Given the description of an element on the screen output the (x, y) to click on. 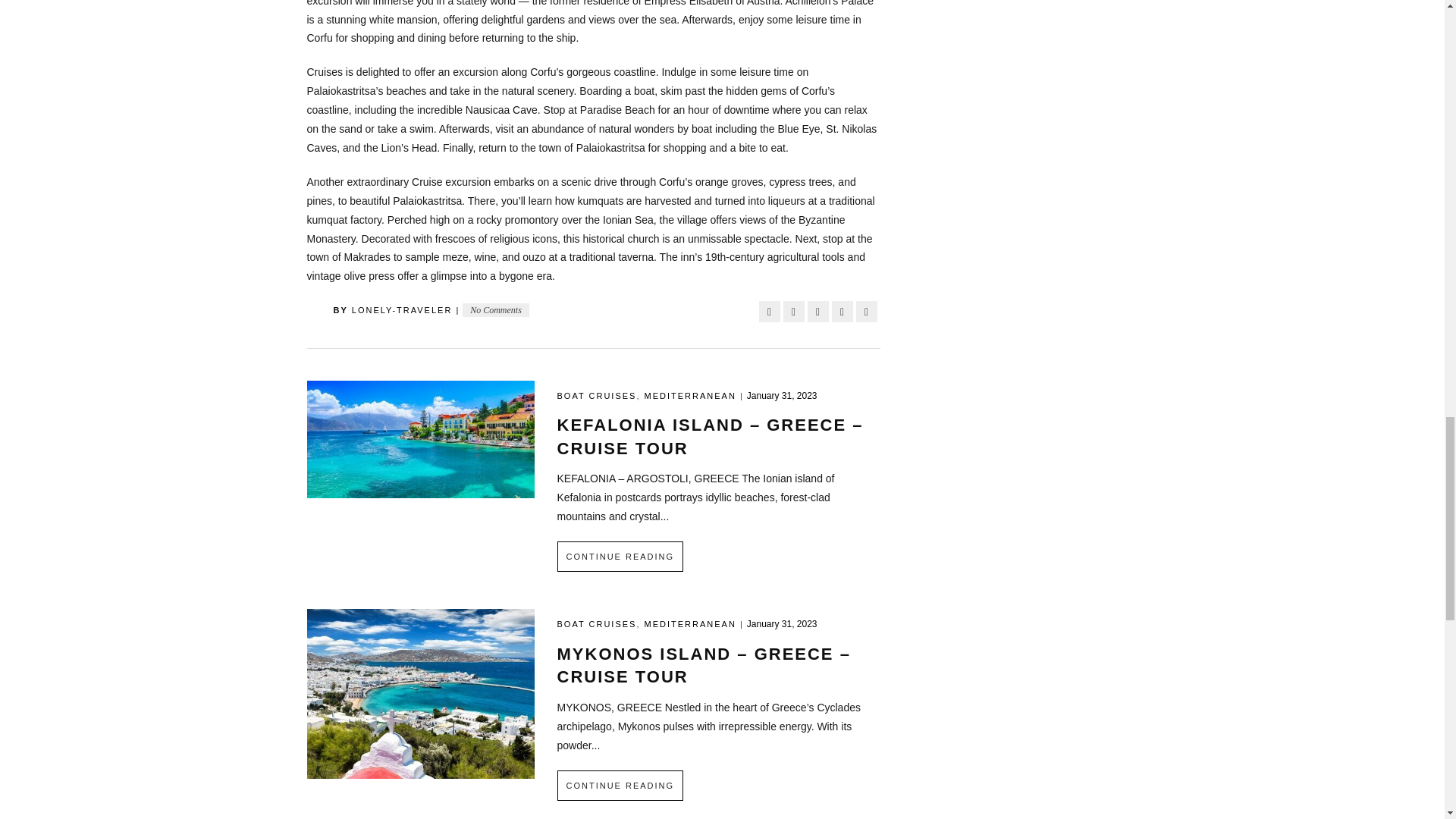
Posts by lonely-traveler (402, 309)
CONTINUE READING (619, 785)
2 (584, 37)
January 31, 2023 (781, 395)
No Comments (496, 309)
MEDITERRANEAN (690, 395)
BOAT CRUISES (596, 395)
Mykonos Island - Greece - Cruise Tour (419, 693)
LONELY-TRAVELER (402, 309)
Kefalonia Island - Greece - Cruise Tour (419, 438)
CONTINUE READING (619, 556)
MEDITERRANEAN (690, 623)
BOAT CRUISES (596, 623)
January 31, 2023 (781, 624)
